Given the description of an element on the screen output the (x, y) to click on. 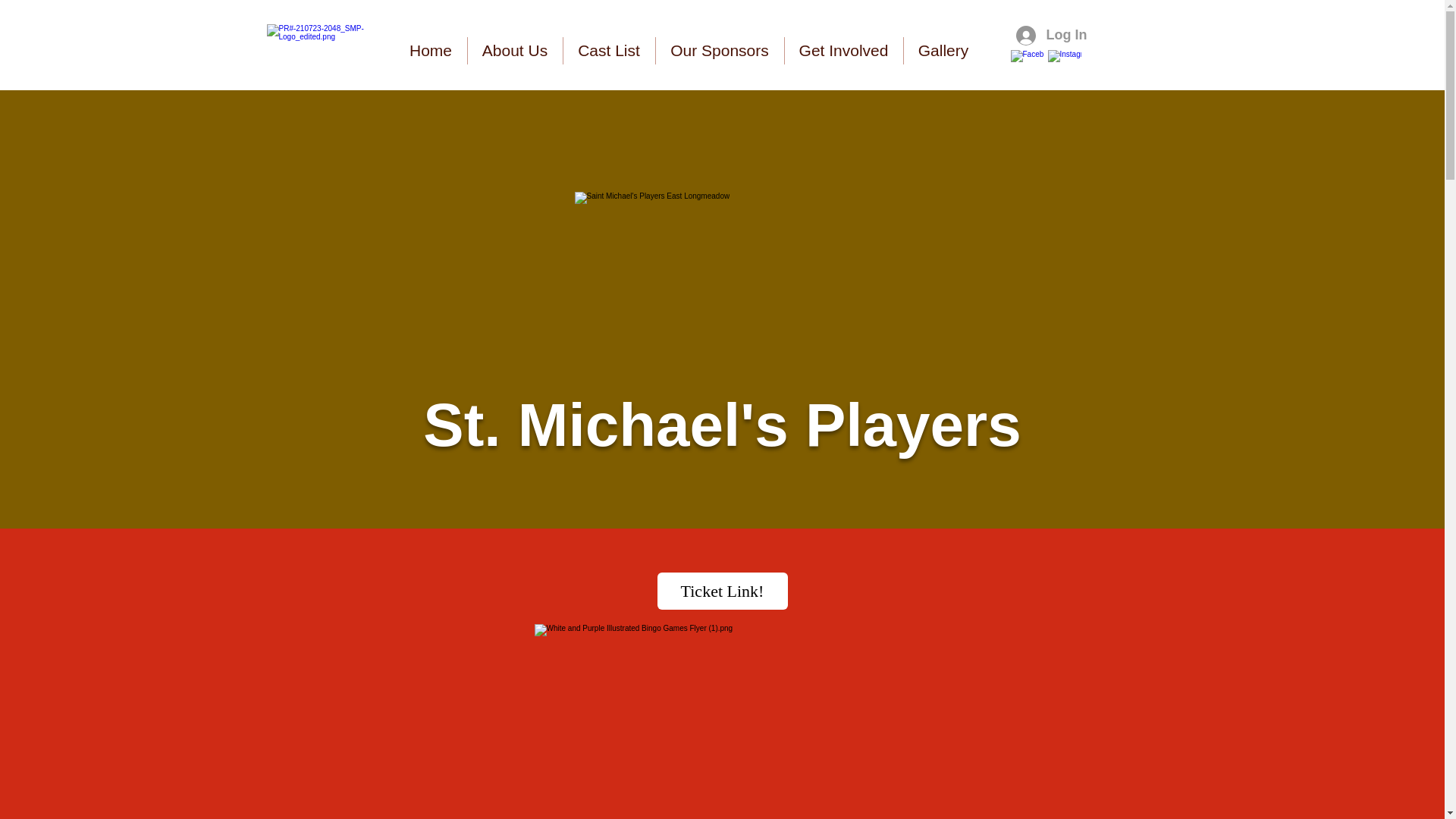
Our Sponsors (719, 50)
Gallery (944, 50)
Get Involved (843, 50)
Log In (1049, 35)
Home (429, 50)
Ticket Link! (721, 590)
About Us (514, 50)
Cast List (607, 50)
